Given the description of an element on the screen output the (x, y) to click on. 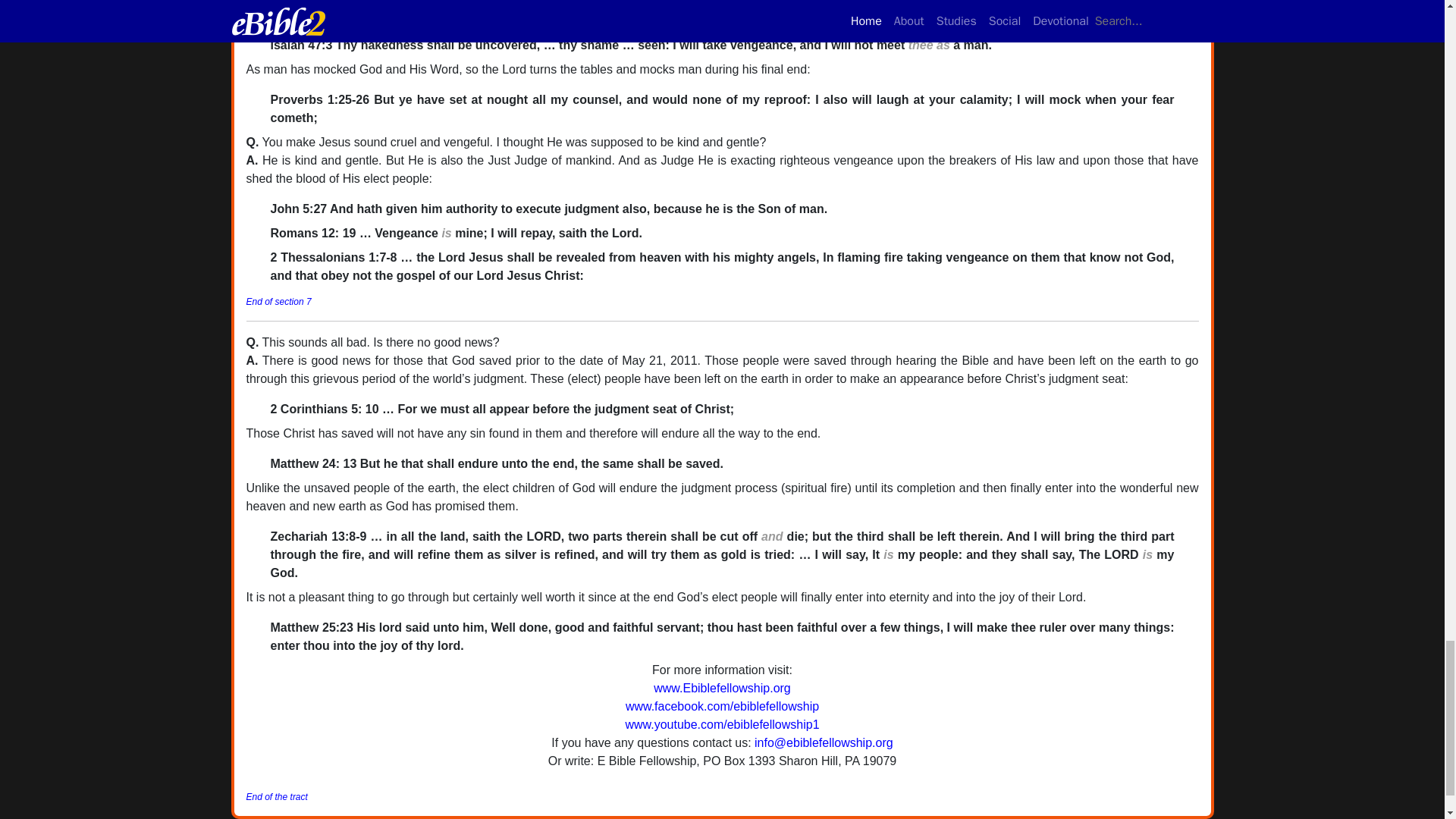
www.Ebiblefellowship.org (721, 687)
